Given the description of an element on the screen output the (x, y) to click on. 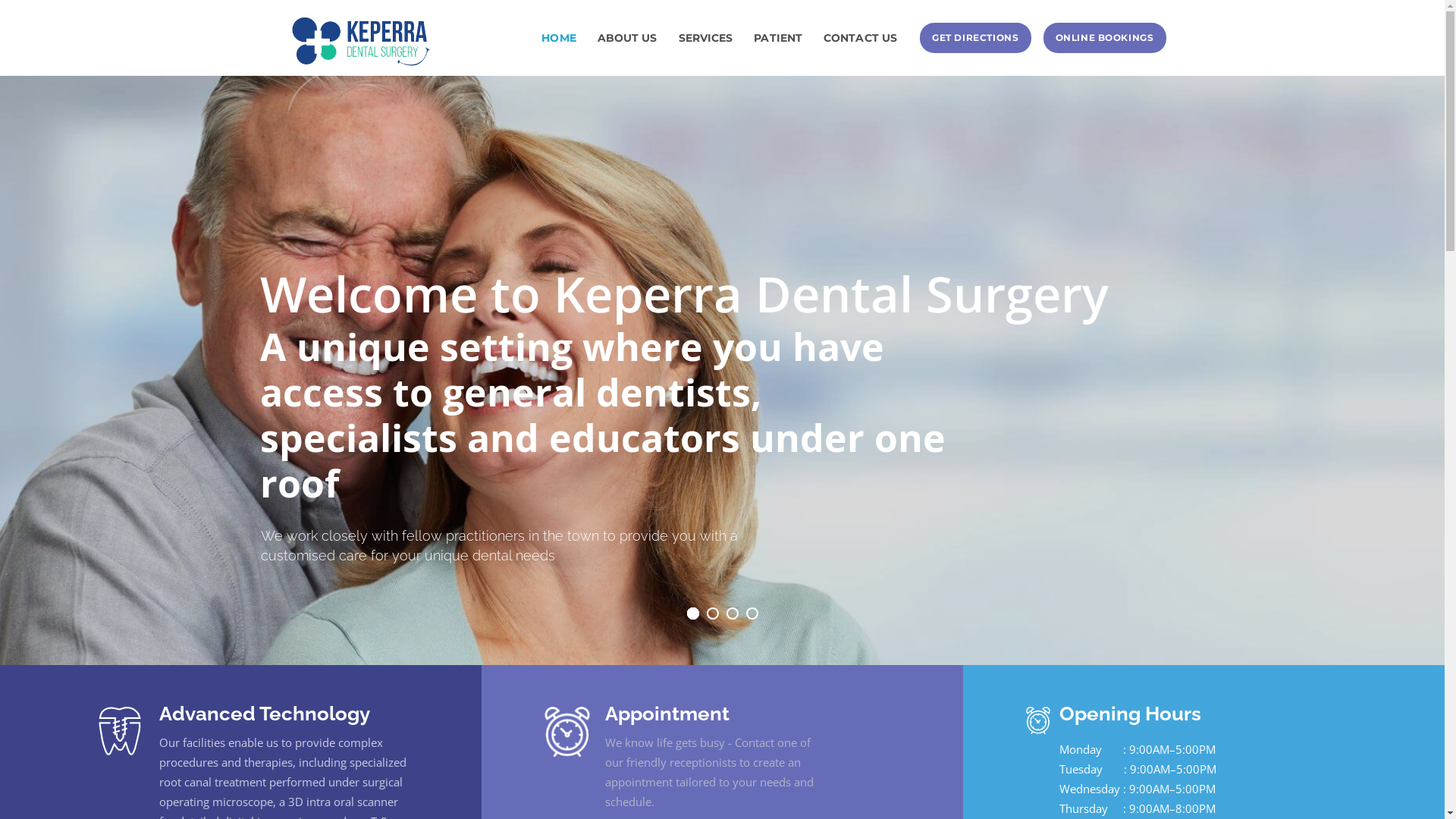
PATIENT Element type: text (777, 37)
CONTACT US Element type: text (859, 37)
ABOUT US Element type: text (627, 37)
HOME Element type: text (558, 37)
ONLINE BOOKINGS Element type: text (1104, 37)
SERVICES Element type: text (705, 37)
GET DIRECTIONS Element type: text (974, 37)
